Given the description of an element on the screen output the (x, y) to click on. 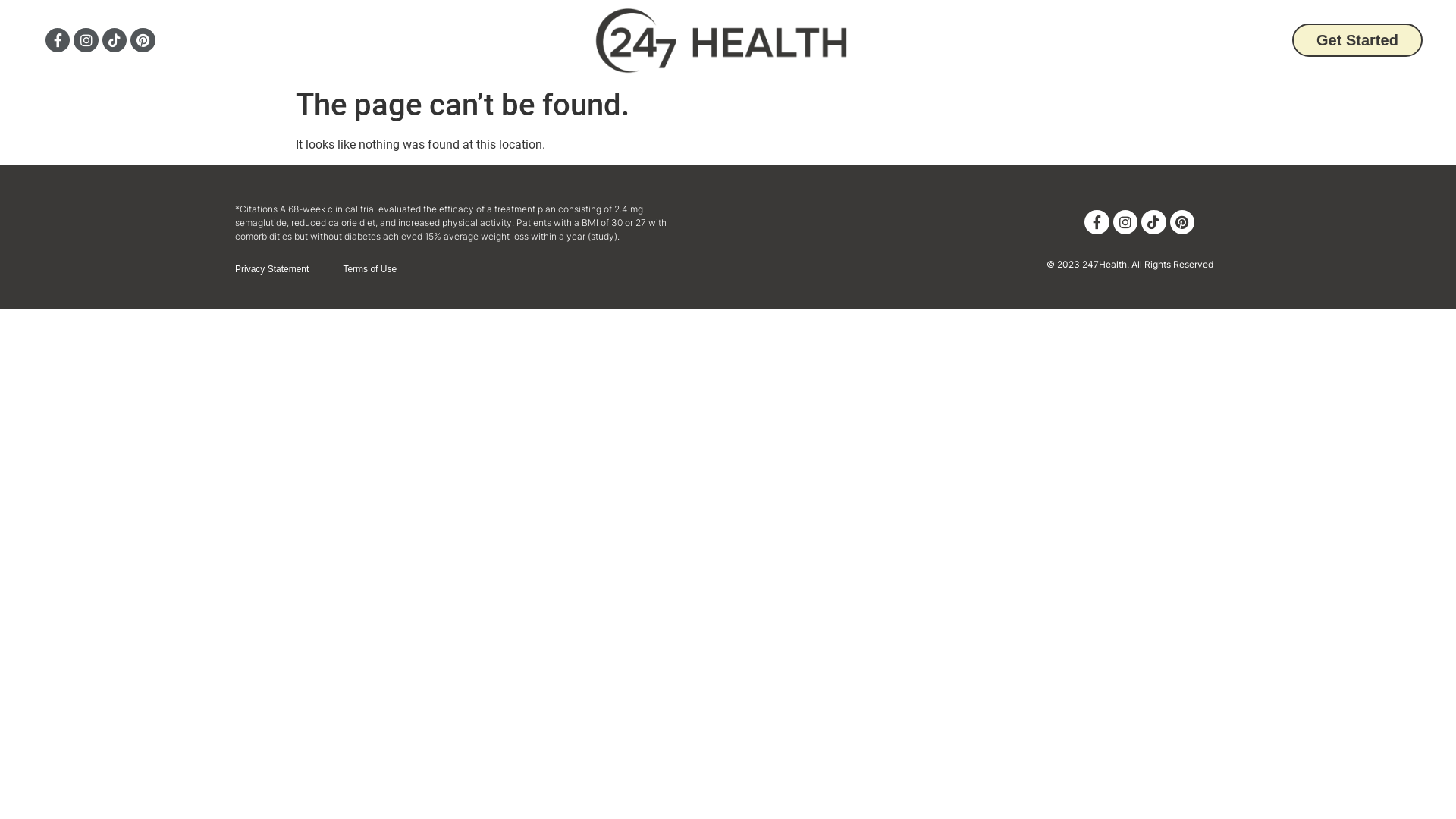
Get Started Element type: text (1357, 39)
247_logo_grey Element type: hover (722, 40)
Privacy Statement Element type: text (271, 269)
Terms of Use Element type: text (369, 269)
